Given the description of an element on the screen output the (x, y) to click on. 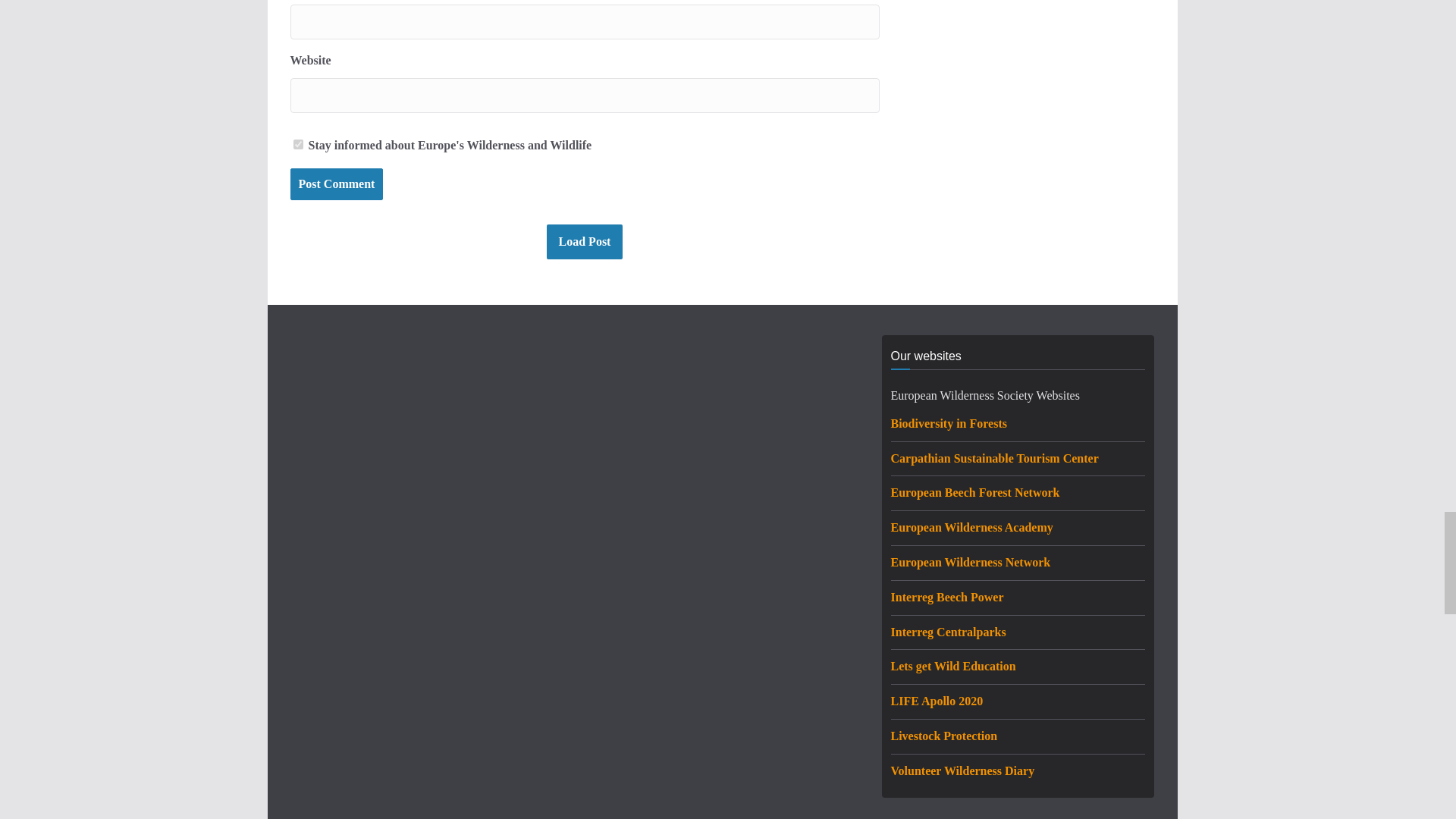
1 (297, 144)
Post Comment (335, 184)
